Given the description of an element on the screen output the (x, y) to click on. 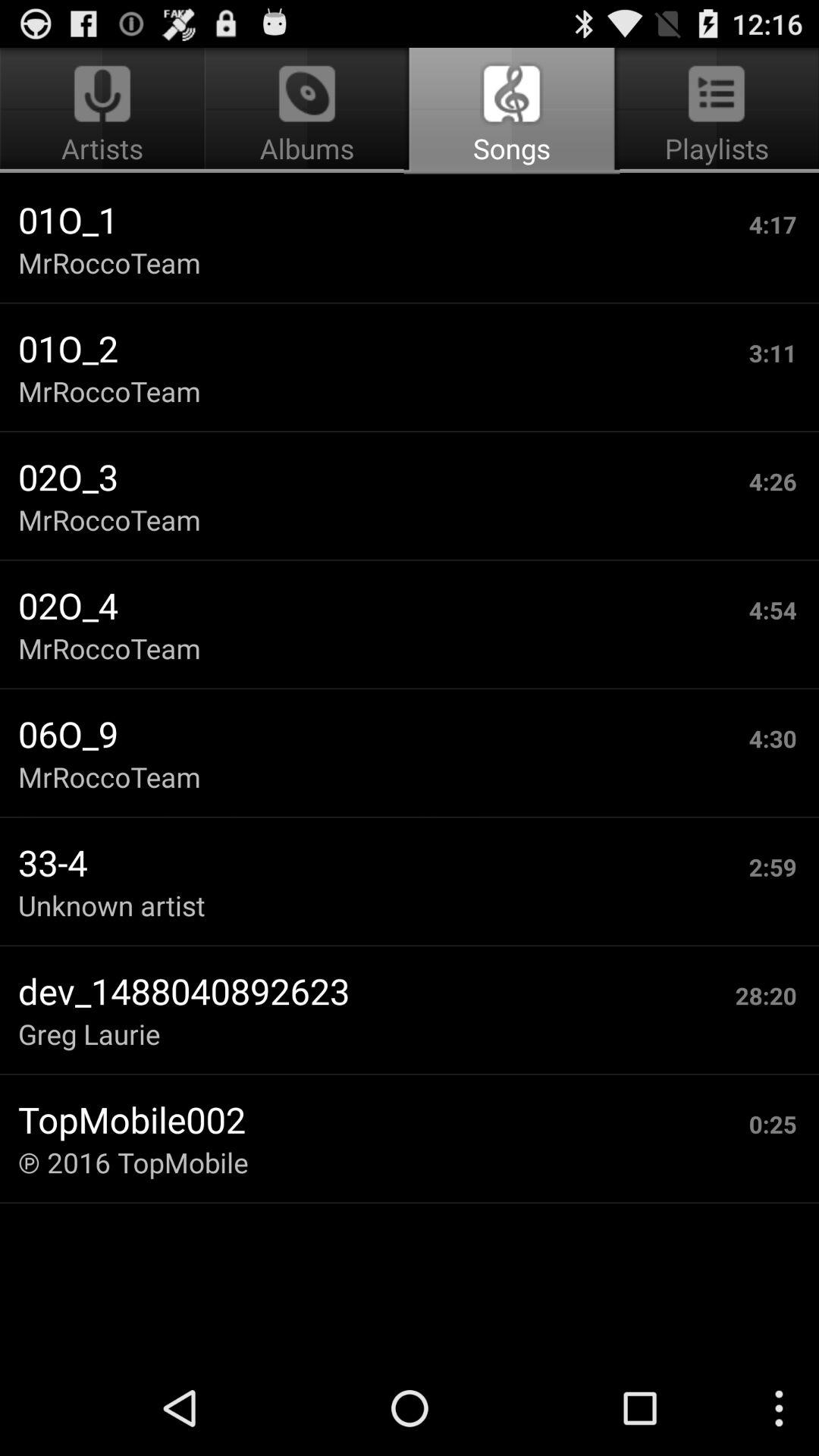
click the item to the right of the artists icon (511, 111)
